Given the description of an element on the screen output the (x, y) to click on. 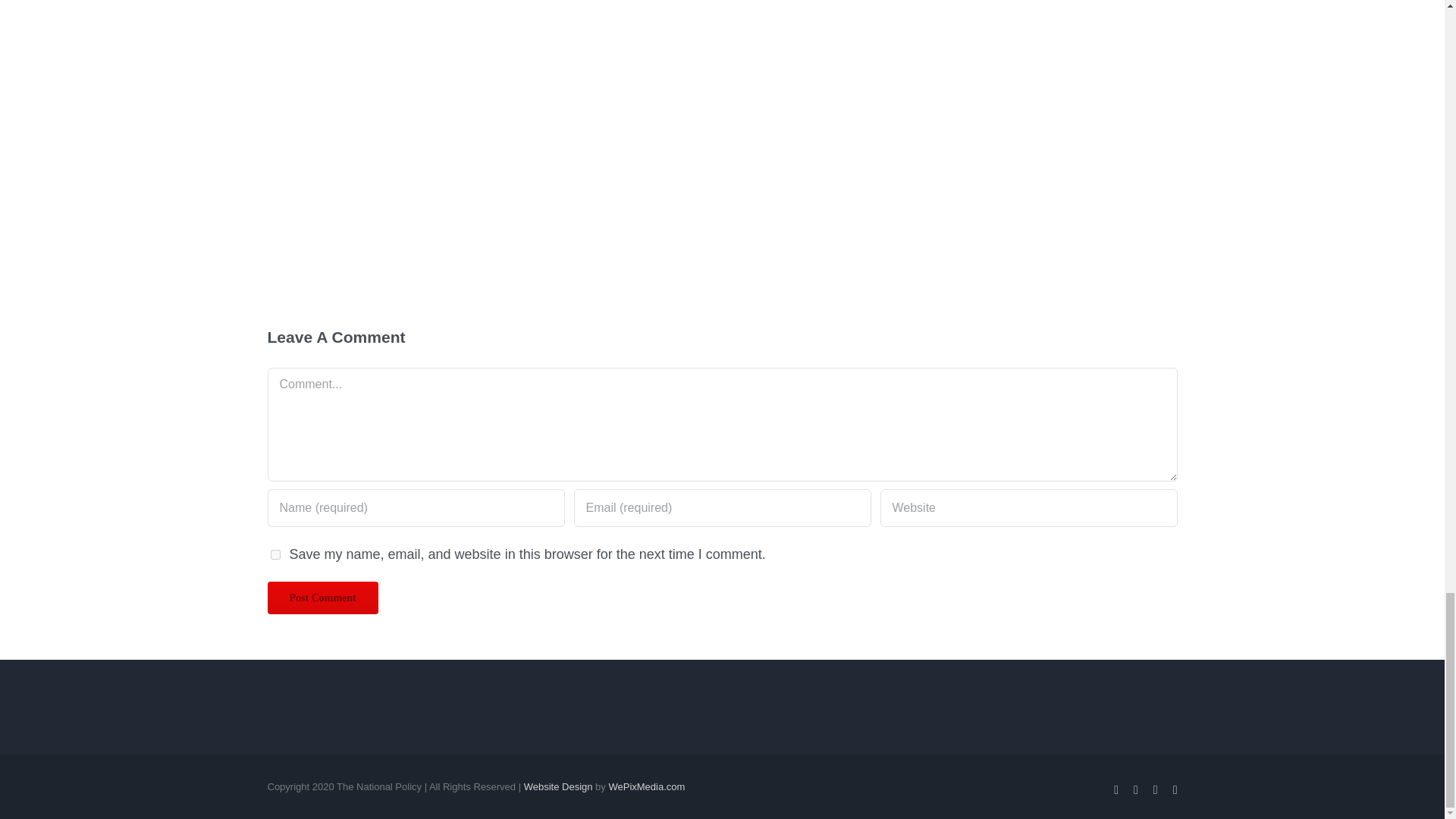
yes (274, 554)
Post Comment (321, 597)
